Given the description of an element on the screen output the (x, y) to click on. 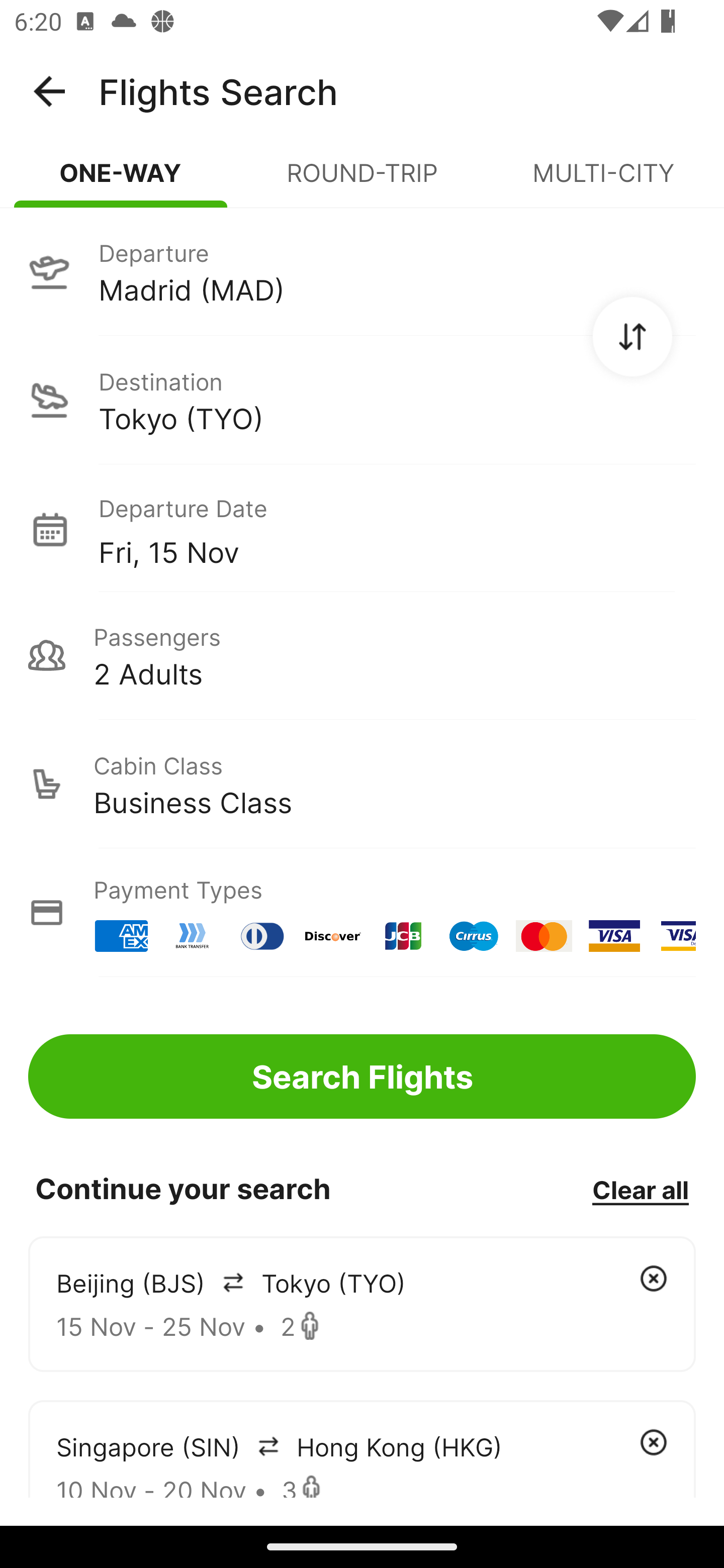
ONE-WAY (120, 180)
ROUND-TRIP (361, 180)
MULTI-CITY (603, 180)
Departure Madrid (MAD) (362, 270)
Destination Tokyo (TYO) (362, 400)
Departure Date Fri, 15 Nov (396, 528)
Passengers 2 Adults (362, 655)
Cabin Class Business Class (362, 783)
Payment Types (362, 912)
Search Flights (361, 1075)
Clear all (640, 1189)
